Given the description of an element on the screen output the (x, y) to click on. 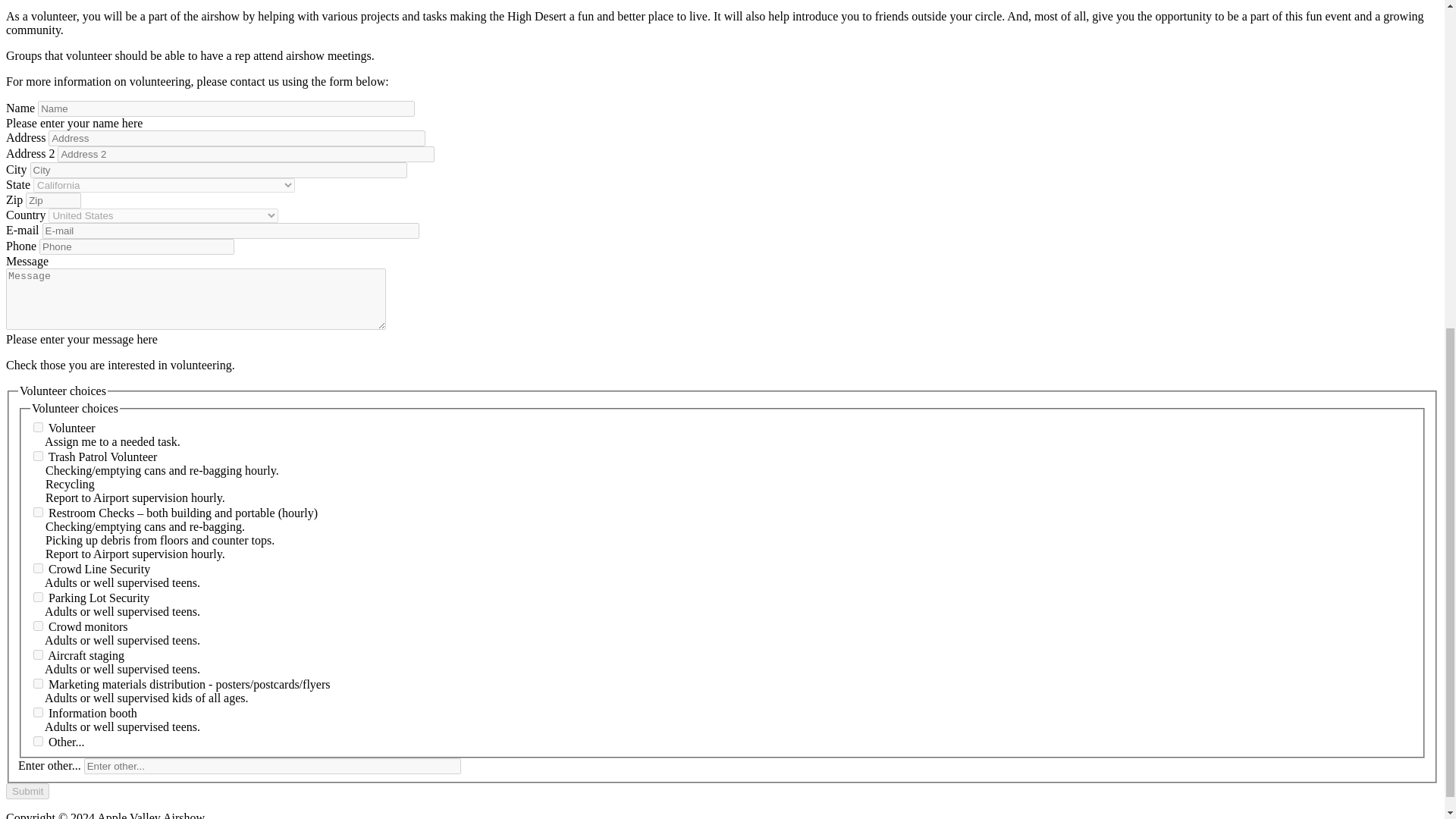
Crowd Line Security (38, 568)
Trash Patrol Volunteer (38, 456)
Submit (27, 790)
Crowd monitors (38, 625)
Aircraft staging (38, 655)
Parking Lot Security (38, 596)
Submit (27, 790)
Volunteer (38, 427)
Information booth (38, 712)
